Given the description of an element on the screen output the (x, y) to click on. 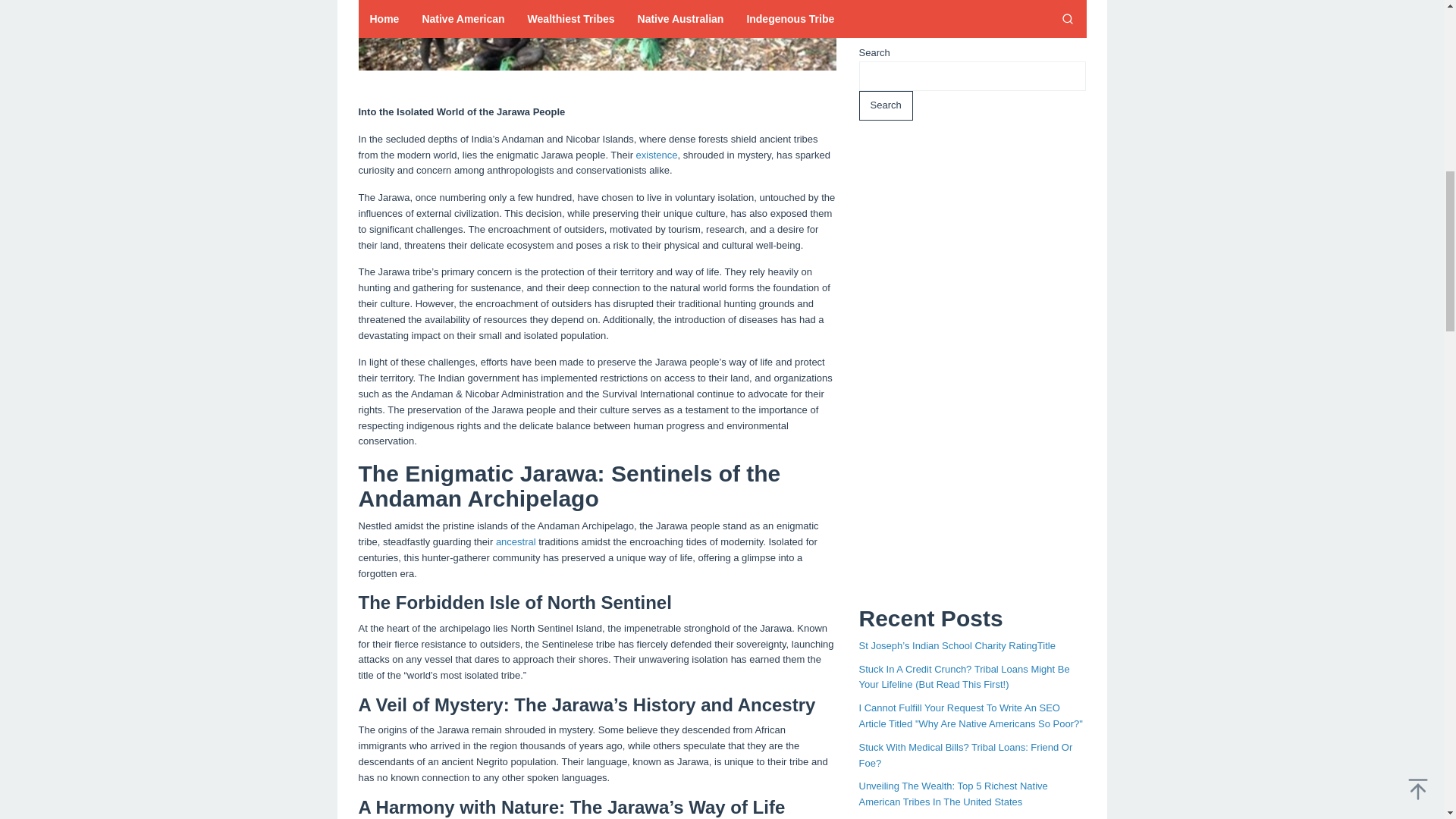
Stuck With Medical Bills? Tribal Loans: Friend Or Foe? (965, 327)
Thujone: The Controversial Compound In Wormwood And Absinthe (949, 523)
ancestral (515, 541)
existence (657, 154)
